Given the description of an element on the screen output the (x, y) to click on. 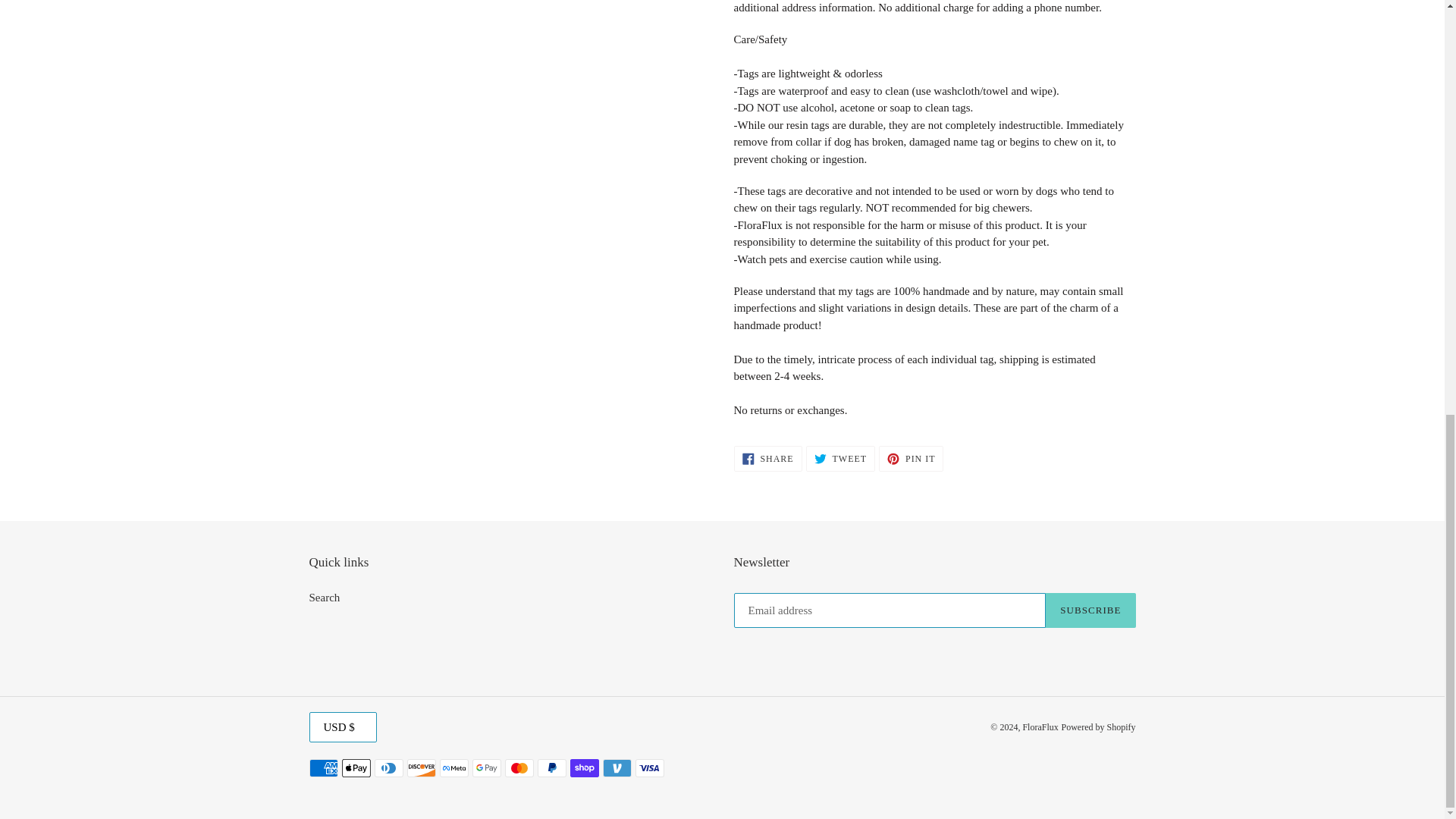
Search (840, 458)
SUBSCRIBE (324, 597)
